Given the description of an element on the screen output the (x, y) to click on. 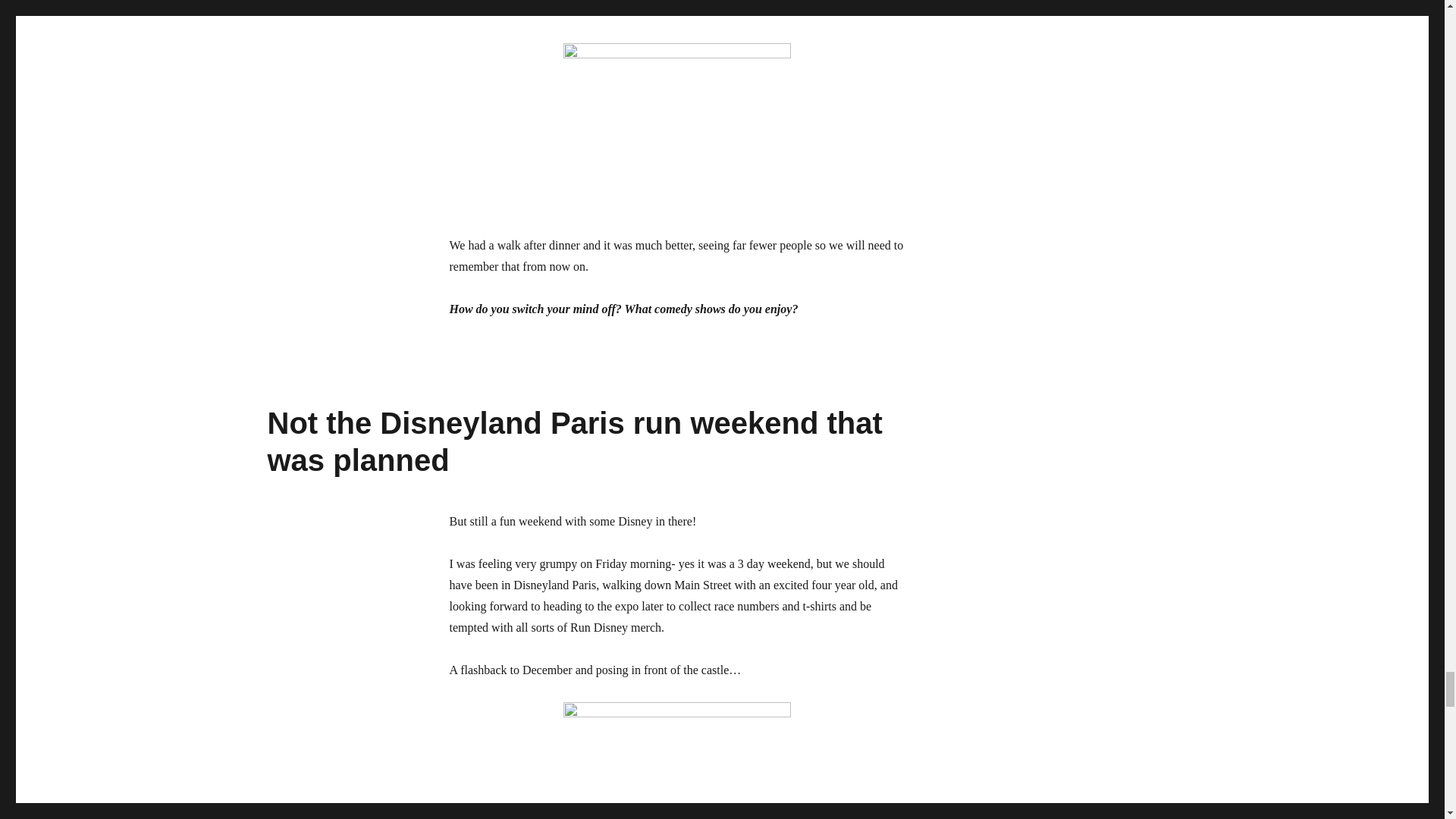
Not the Disneyland Paris run weekend that was planned (574, 441)
